Given the description of an element on the screen output the (x, y) to click on. 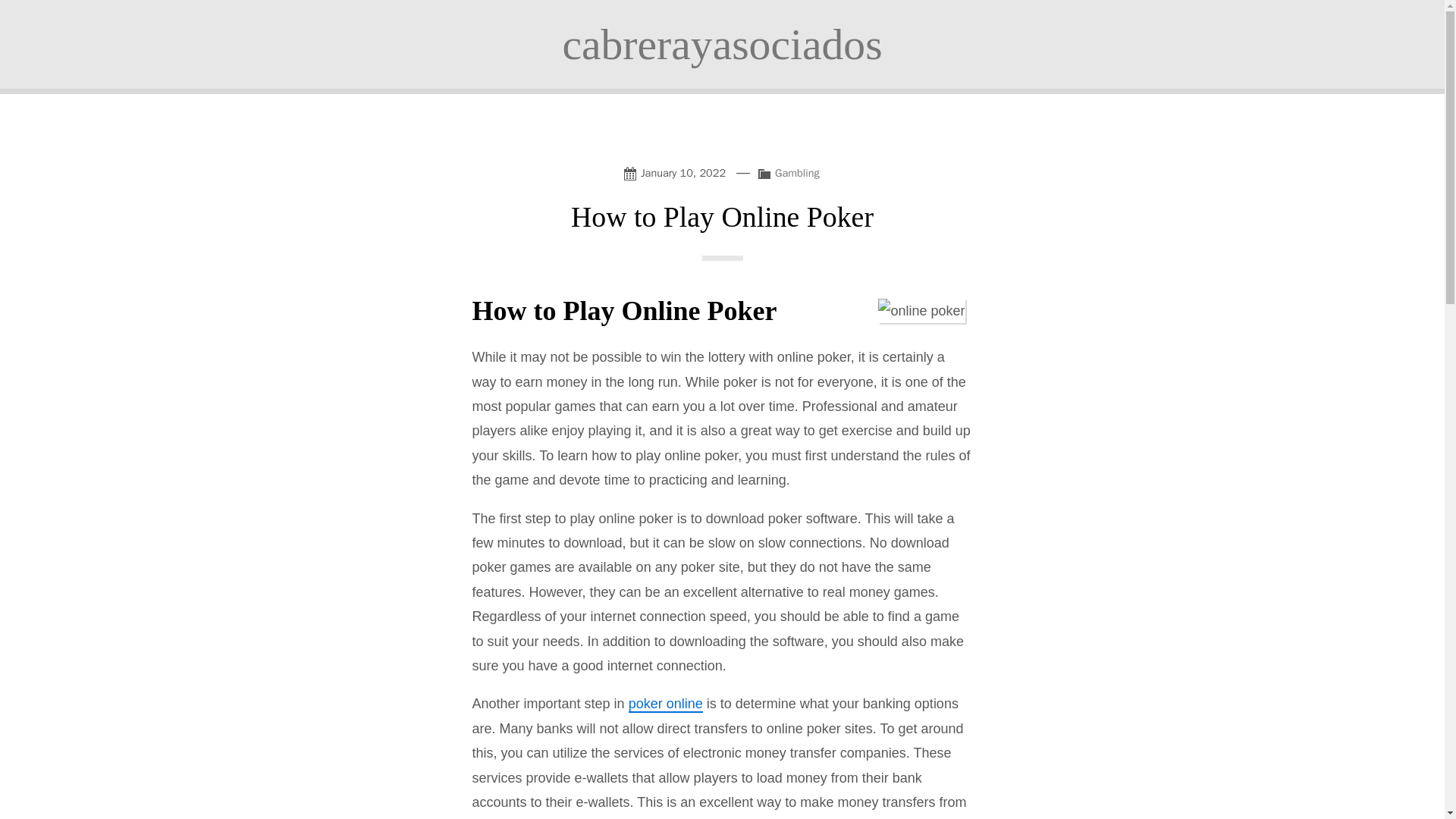
cabrerayasociados (722, 43)
Gambling (796, 172)
poker online (665, 704)
